Given the description of an element on the screen output the (x, y) to click on. 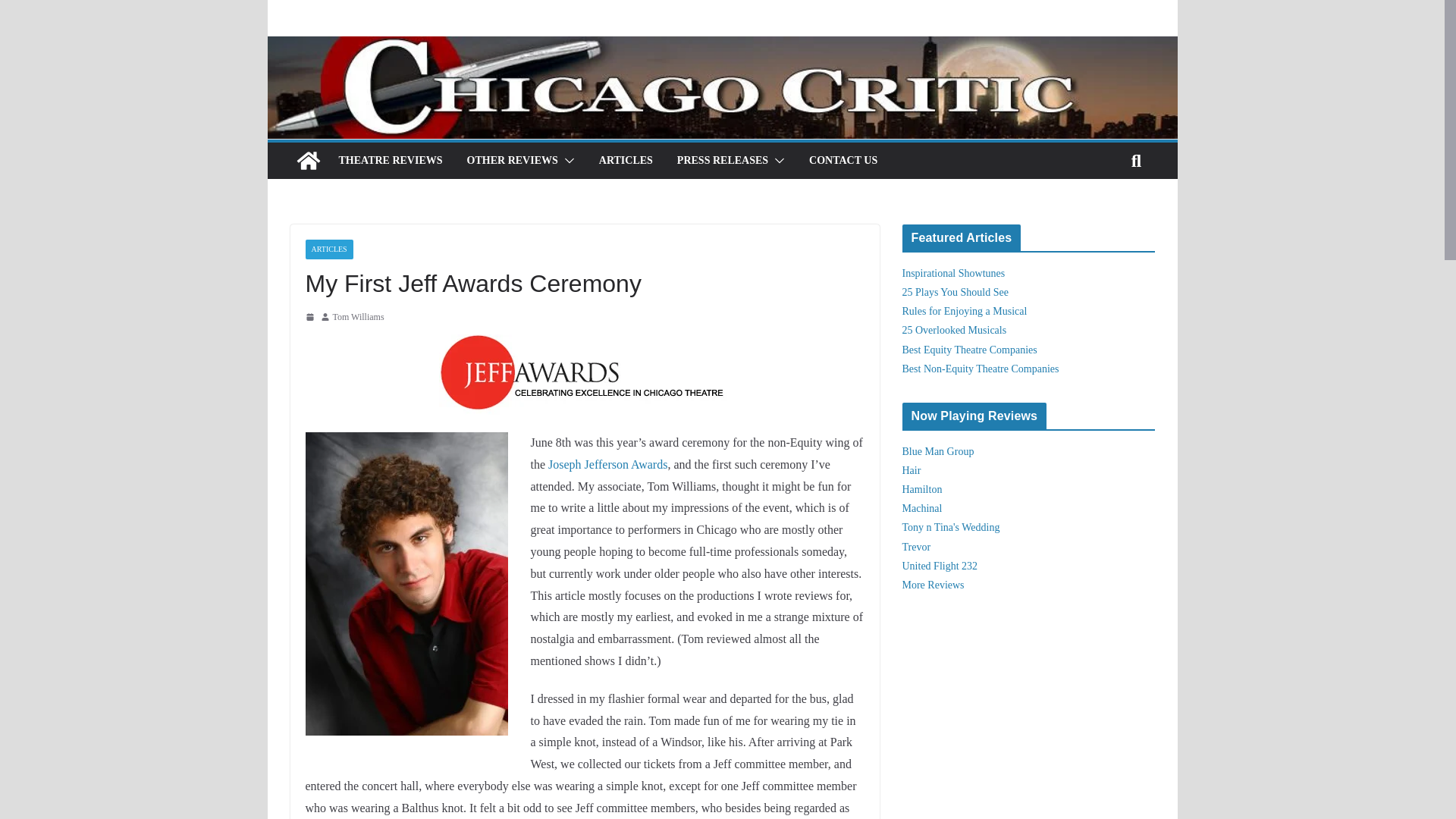
Tom Williams (357, 317)
25 Plays You Should See (955, 292)
Joseph Jefferson Awards (607, 463)
Blue Man Group (938, 451)
Tom Williams (357, 317)
Rules for Enjoying a Musical (964, 310)
Inspirational Showtunes (954, 273)
Best Non-Equity Theatre Companies (980, 368)
25 Overlooked Musicals (954, 329)
THEATRE REVIEWS (389, 160)
